Given the description of an element on the screen output the (x, y) to click on. 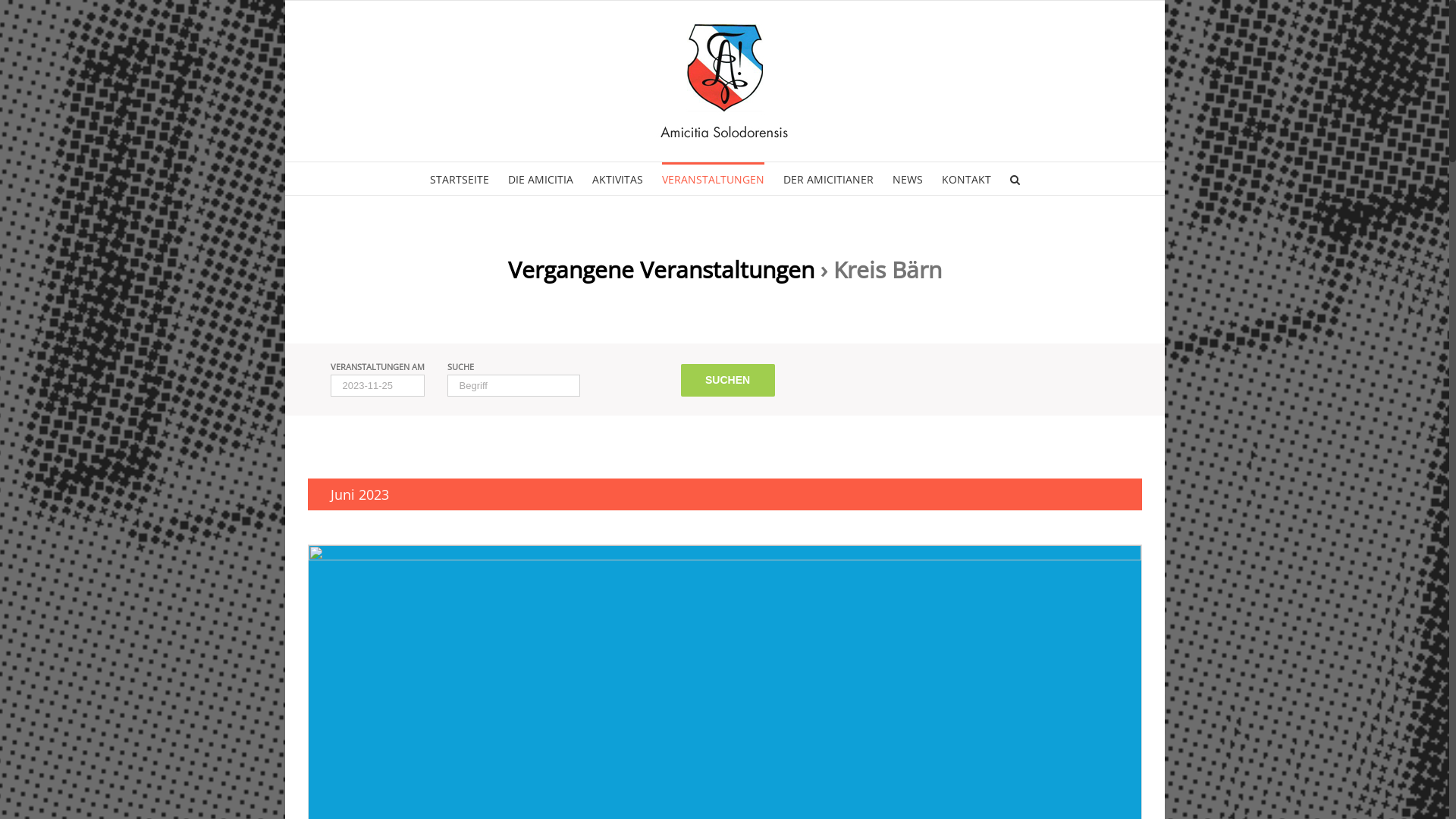
VERANSTALTUNGEN Element type: text (712, 178)
Vergangene Veranstaltungen Element type: text (661, 269)
NEWS Element type: text (906, 178)
DER AMICITIANER Element type: text (827, 178)
KONTAKT Element type: text (966, 178)
DIE AMICITIA Element type: text (540, 178)
STARTSEITE Element type: text (458, 178)
Suchen Element type: text (727, 380)
AKTIVITAS Element type: text (616, 178)
